Given the description of an element on the screen output the (x, y) to click on. 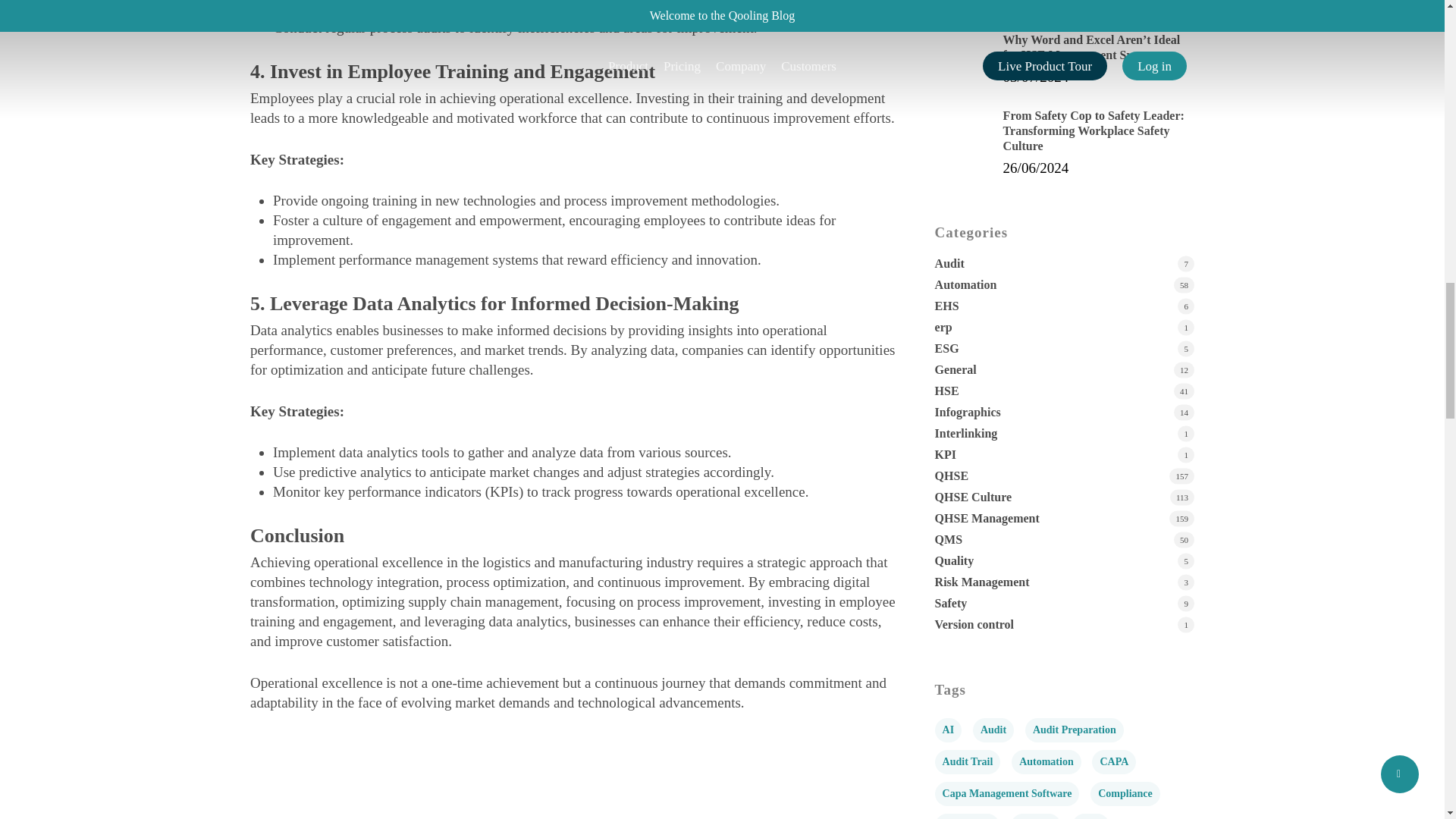
EHS (1063, 305)
Interlinking (1063, 433)
HSE (1063, 391)
KPI (1063, 454)
QHSE (1063, 476)
Infographics (1063, 412)
General (1063, 369)
Audit (1063, 263)
ESG (1063, 348)
Automation (1063, 284)
